Given the description of an element on the screen output the (x, y) to click on. 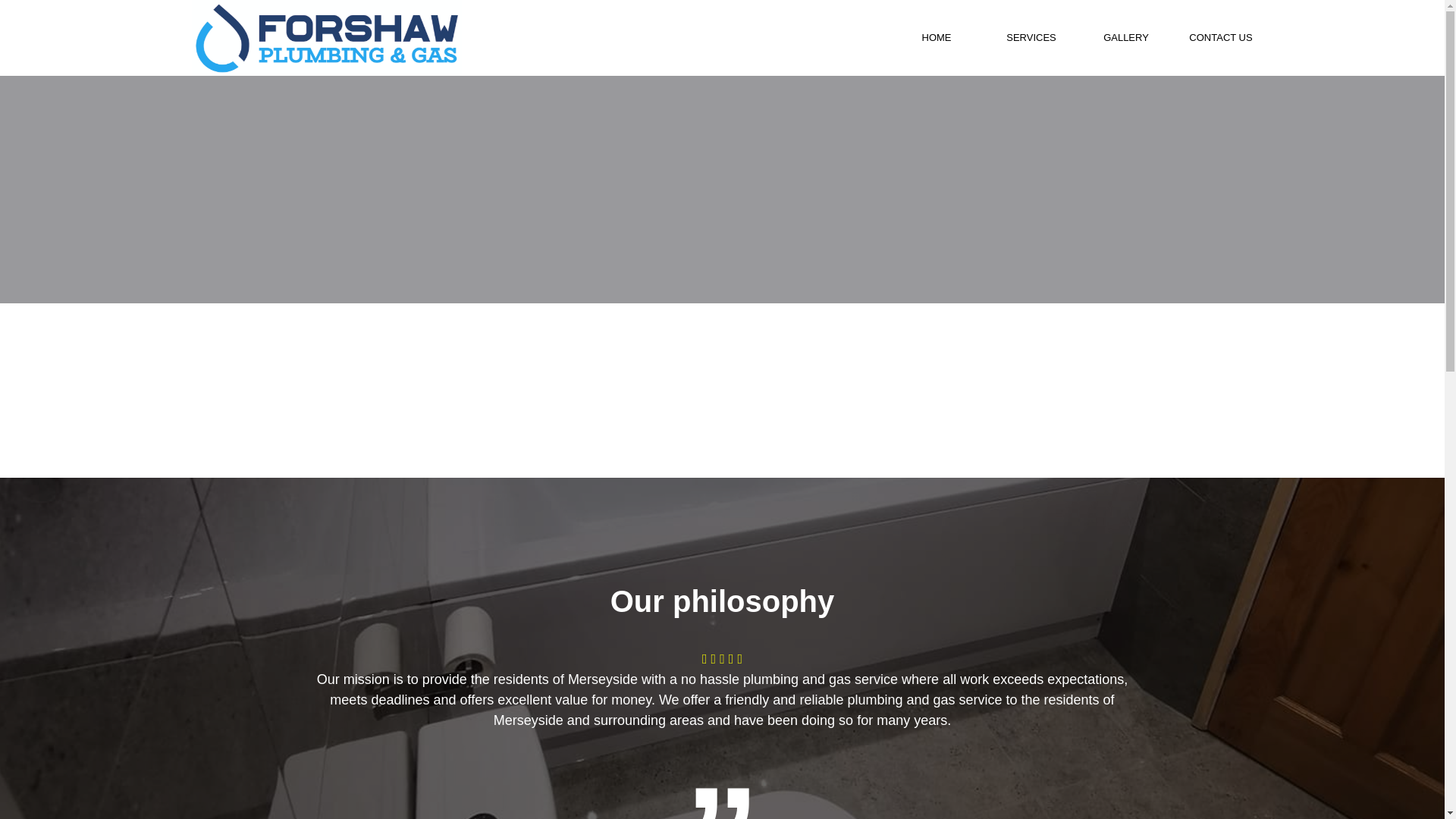
SERVICES (1031, 38)
CONTACT US (1220, 38)
GALLERY (1125, 38)
HOME (936, 38)
